Given the description of an element on the screen output the (x, y) to click on. 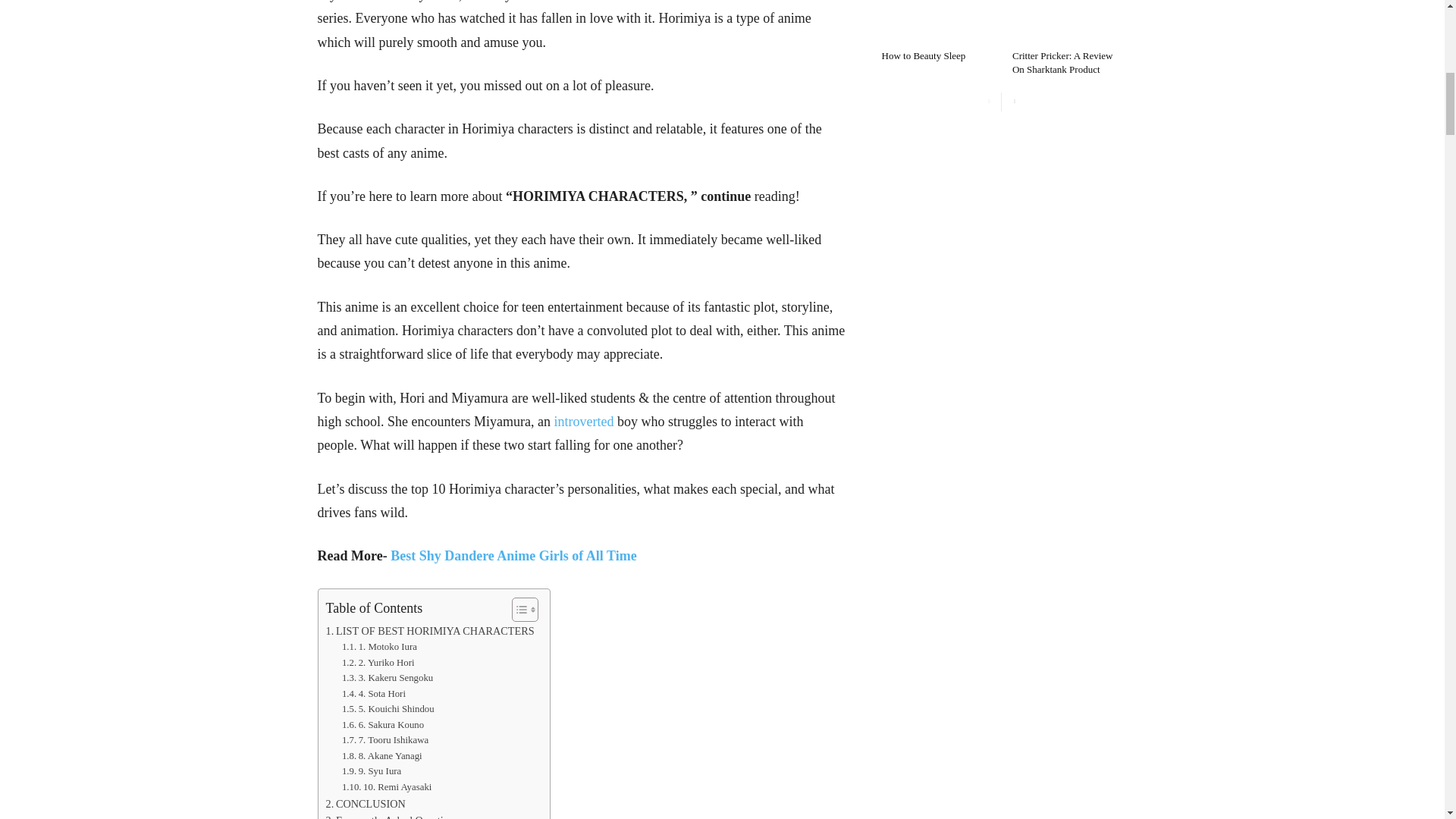
LIST OF BEST HORIMIYA CHARACTERS (430, 630)
3. Kakeru Sengoku (387, 678)
4. Sota Hori (374, 693)
2. Yuriko Hori (378, 662)
1. Motoko Iura (379, 647)
